Given the description of an element on the screen output the (x, y) to click on. 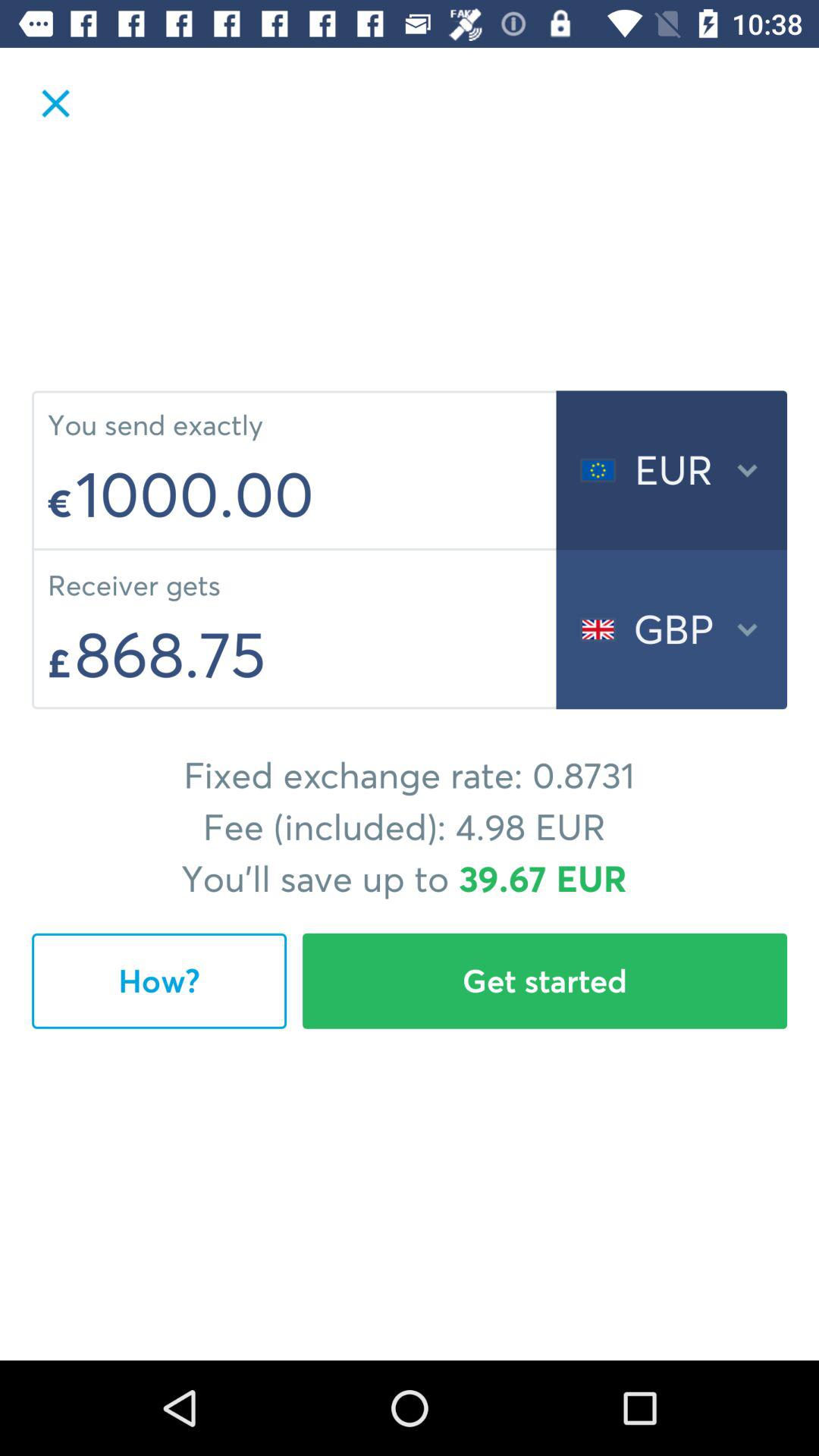
click the item below the fixed exchange rate icon (158, 980)
